Given the description of an element on the screen output the (x, y) to click on. 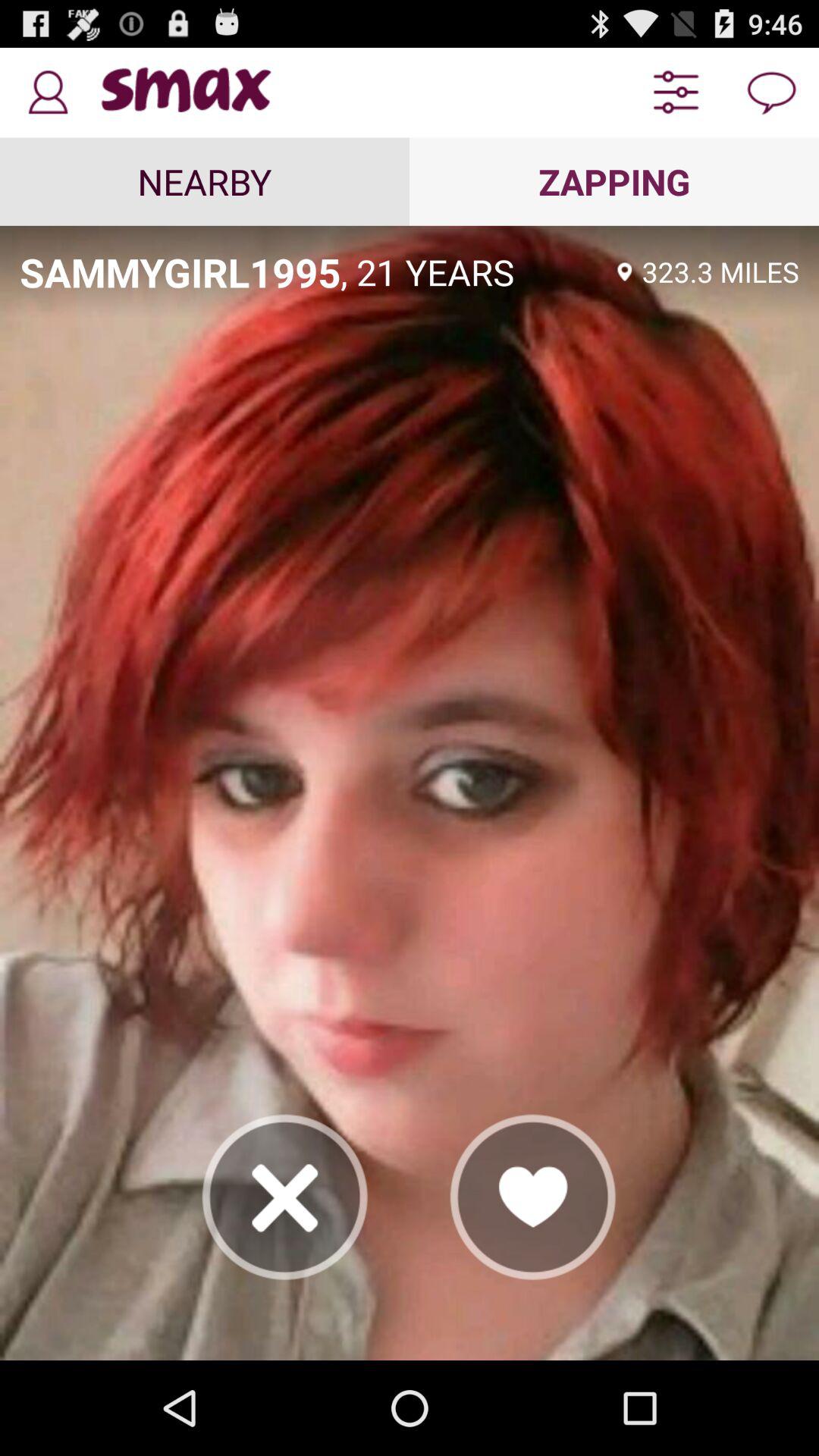
press 323.3 miles (720, 271)
